Given the description of an element on the screen output the (x, y) to click on. 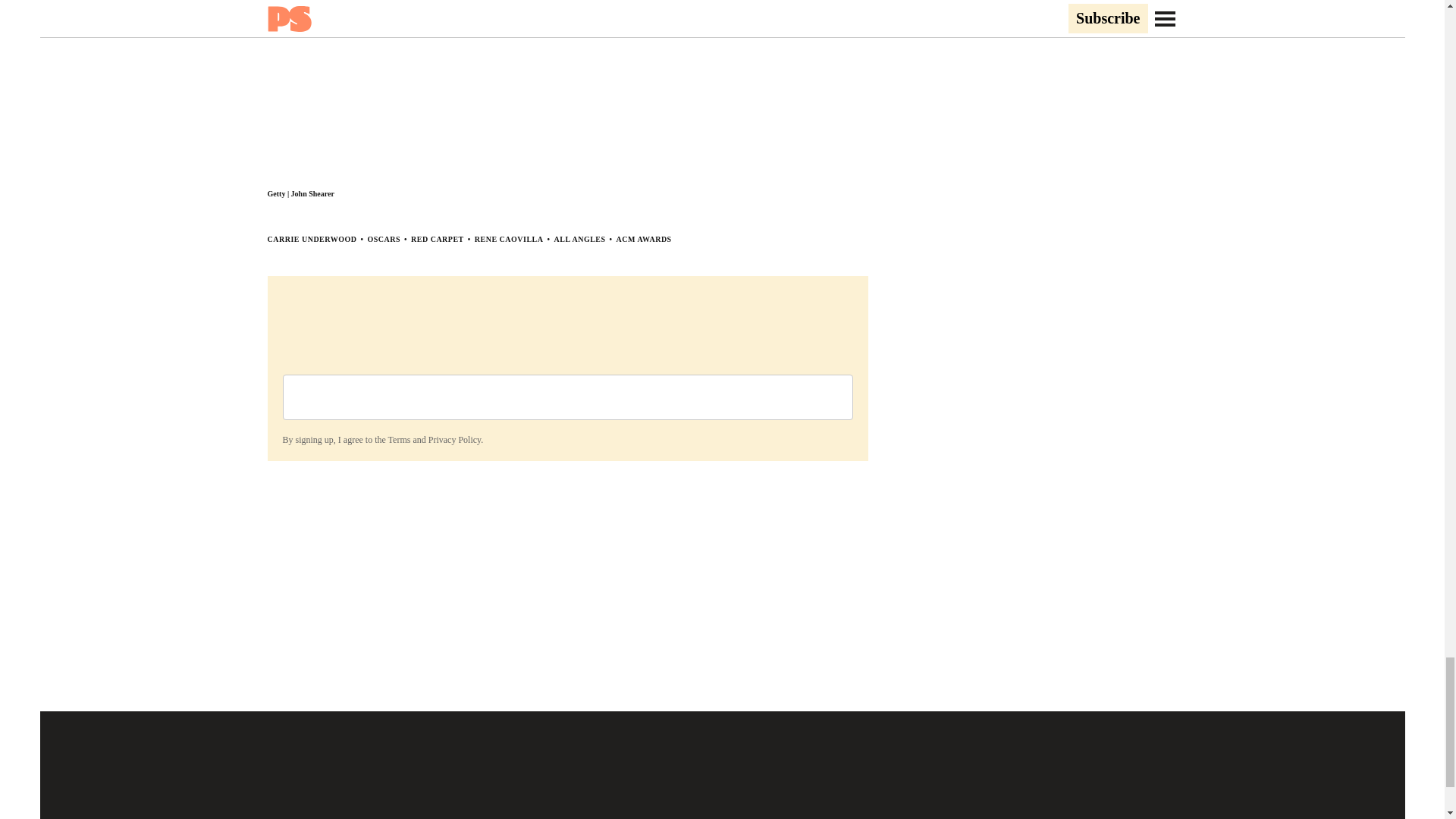
CARRIE UNDERWOOD (311, 239)
ABOUT US (408, 818)
MEET THE PS STAFF (504, 818)
ACM AWARDS (643, 239)
ALL ANGLES (579, 239)
Terms (399, 439)
RENE CAOVILLA (508, 239)
Privacy Policy. (455, 439)
RED CARPET (437, 239)
OSCARS (383, 239)
MEET THE PS COUNCIL (634, 818)
